Given the description of an element on the screen output the (x, y) to click on. 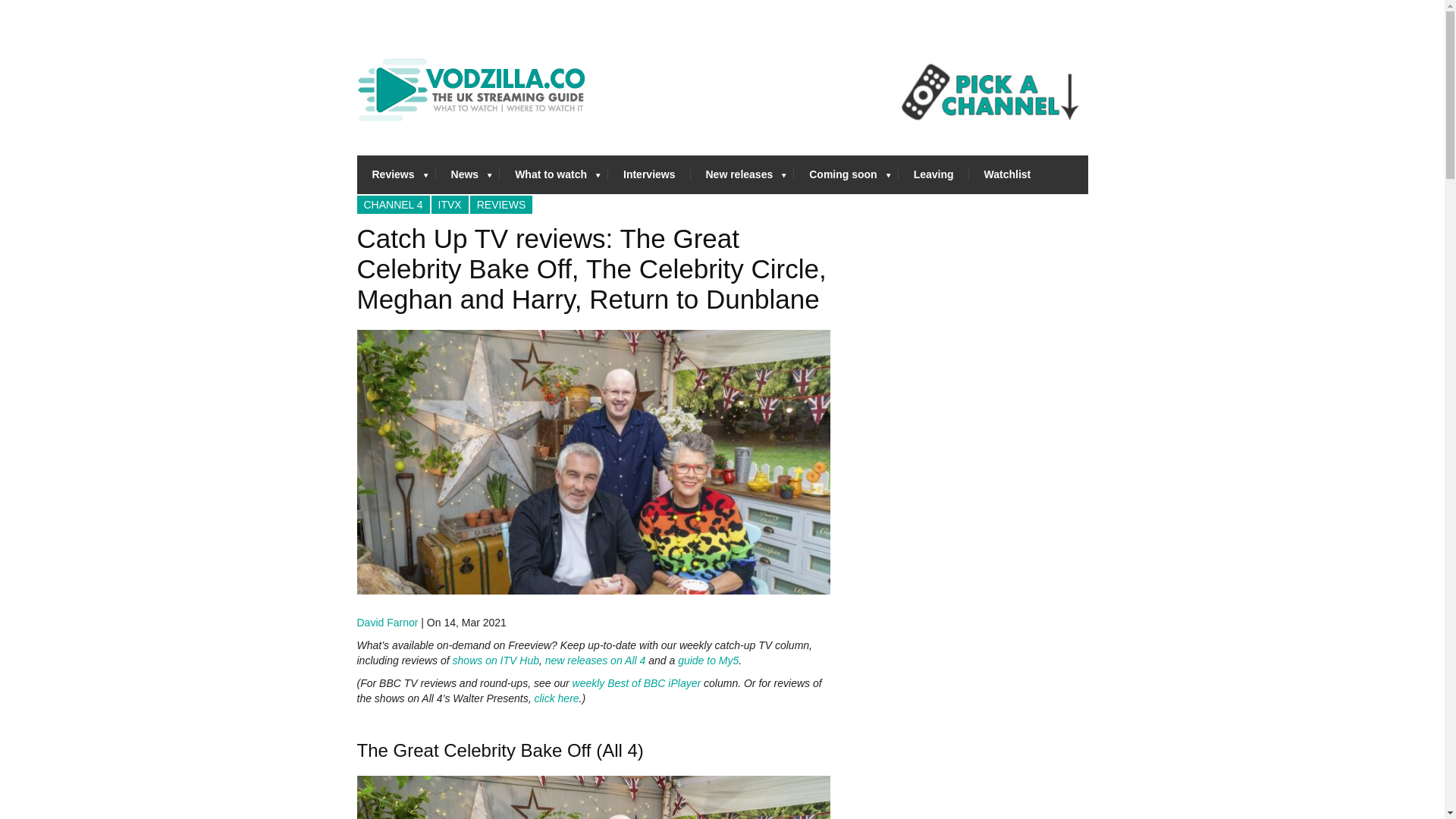
Interviews (649, 174)
New releases (741, 174)
Coming soon (845, 174)
